Given the description of an element on the screen output the (x, y) to click on. 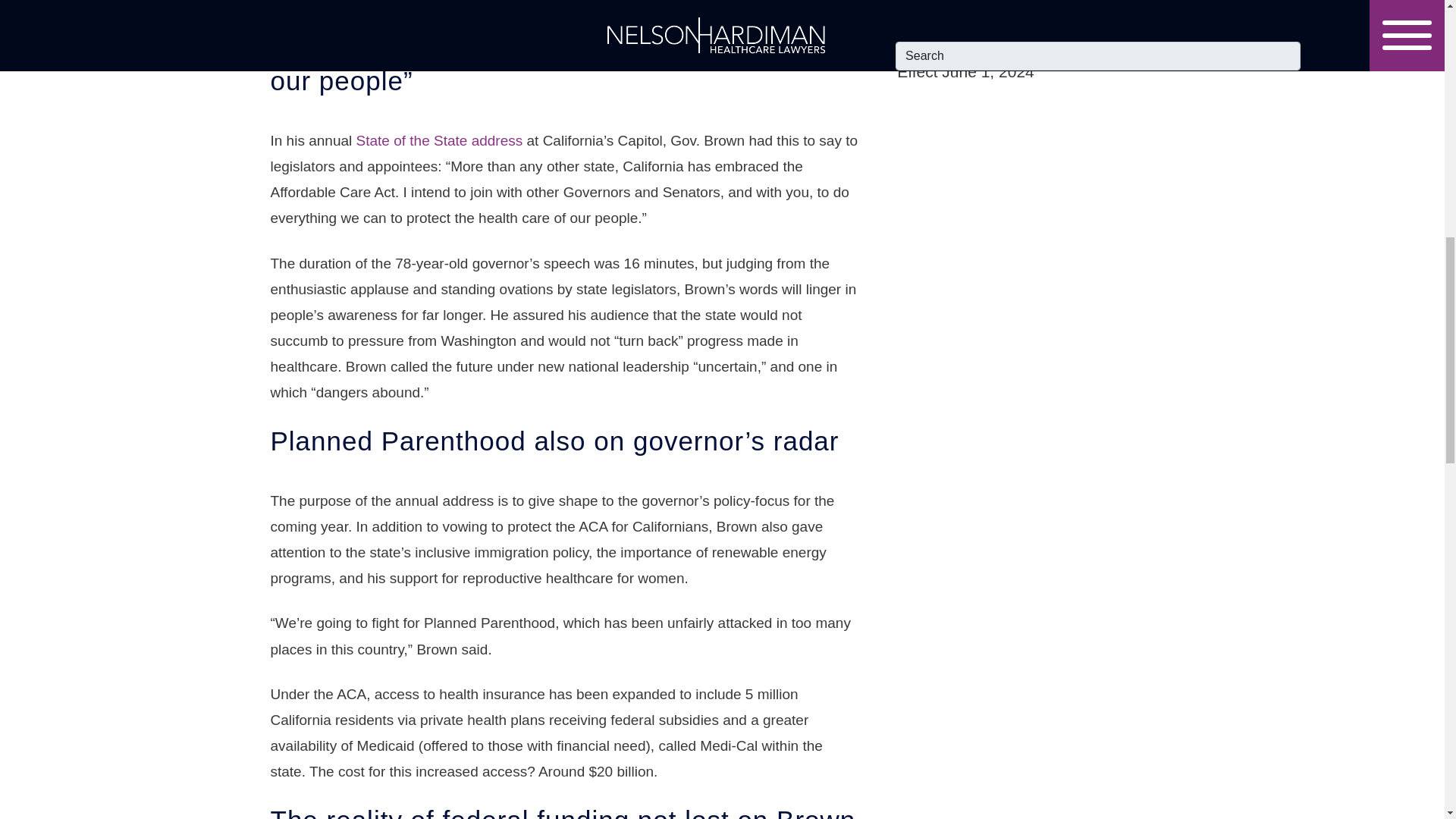
State of the State address (439, 140)
